Given the description of an element on the screen output the (x, y) to click on. 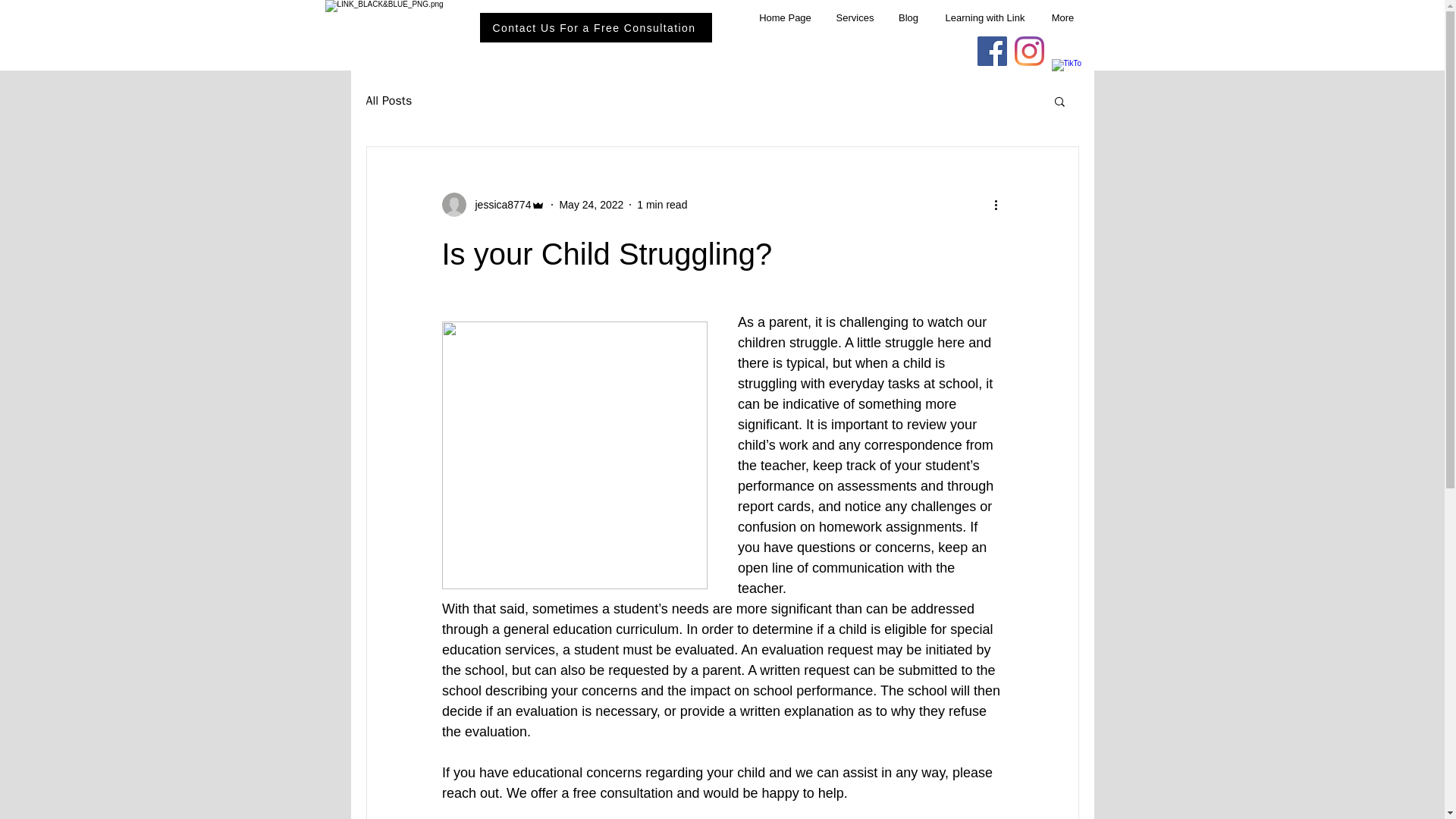
Learning with Link (985, 18)
Blog (907, 18)
Contact Us For a Free Consultation (595, 27)
1 min read (662, 204)
jessica8774 (492, 204)
jessica8774 (498, 204)
Services (854, 18)
May 24, 2022 (591, 204)
Home Page (784, 18)
All Posts (388, 100)
